Given the description of an element on the screen output the (x, y) to click on. 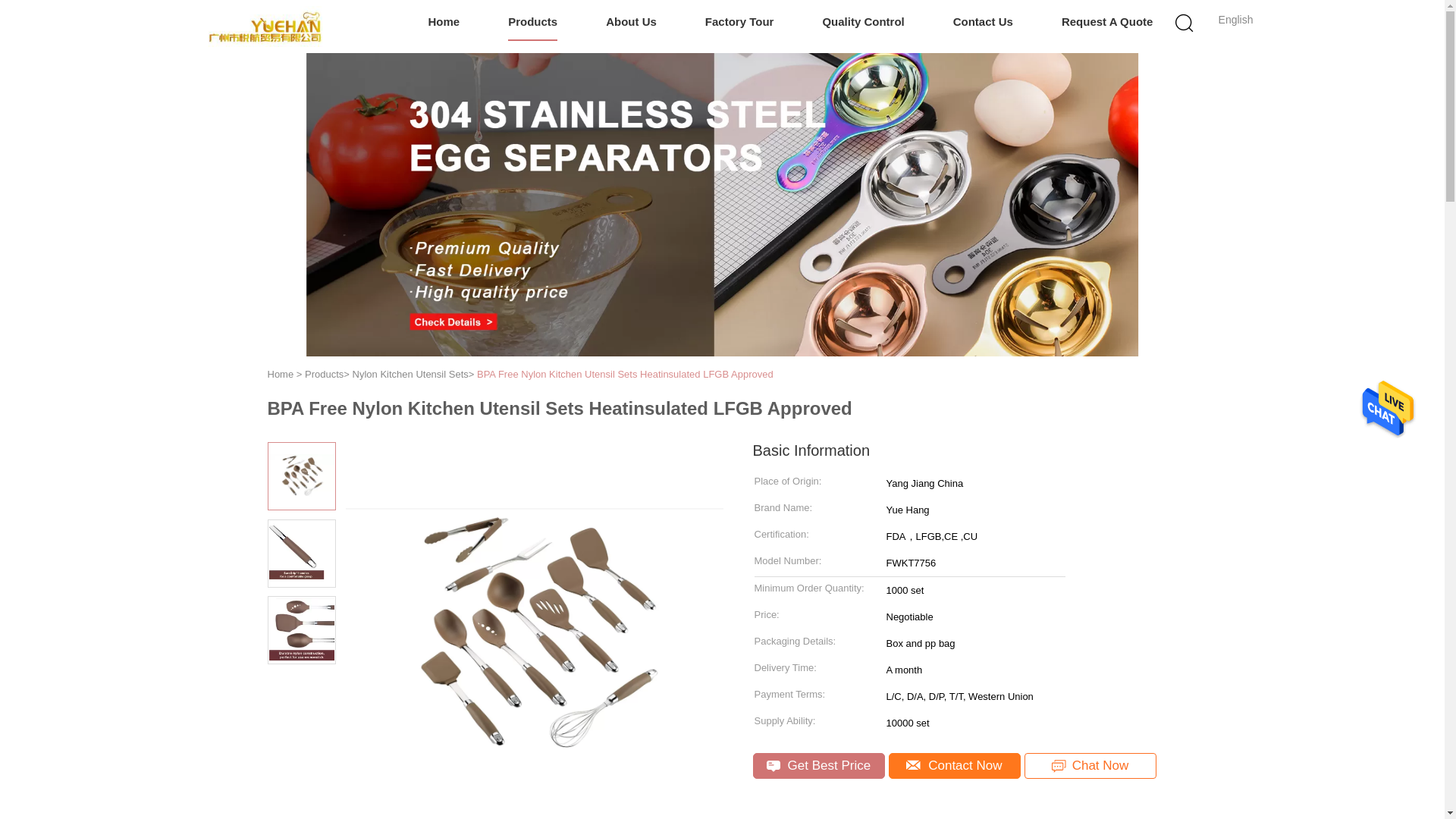
Request A Quote (1107, 22)
Quality Control (863, 22)
Products (532, 22)
Factory Tour (739, 22)
Guangzhou Yuehang Trading Co.,Ltd. (264, 25)
Contact Us (983, 22)
About Us (630, 22)
Search (1044, 100)
